Given the description of an element on the screen output the (x, y) to click on. 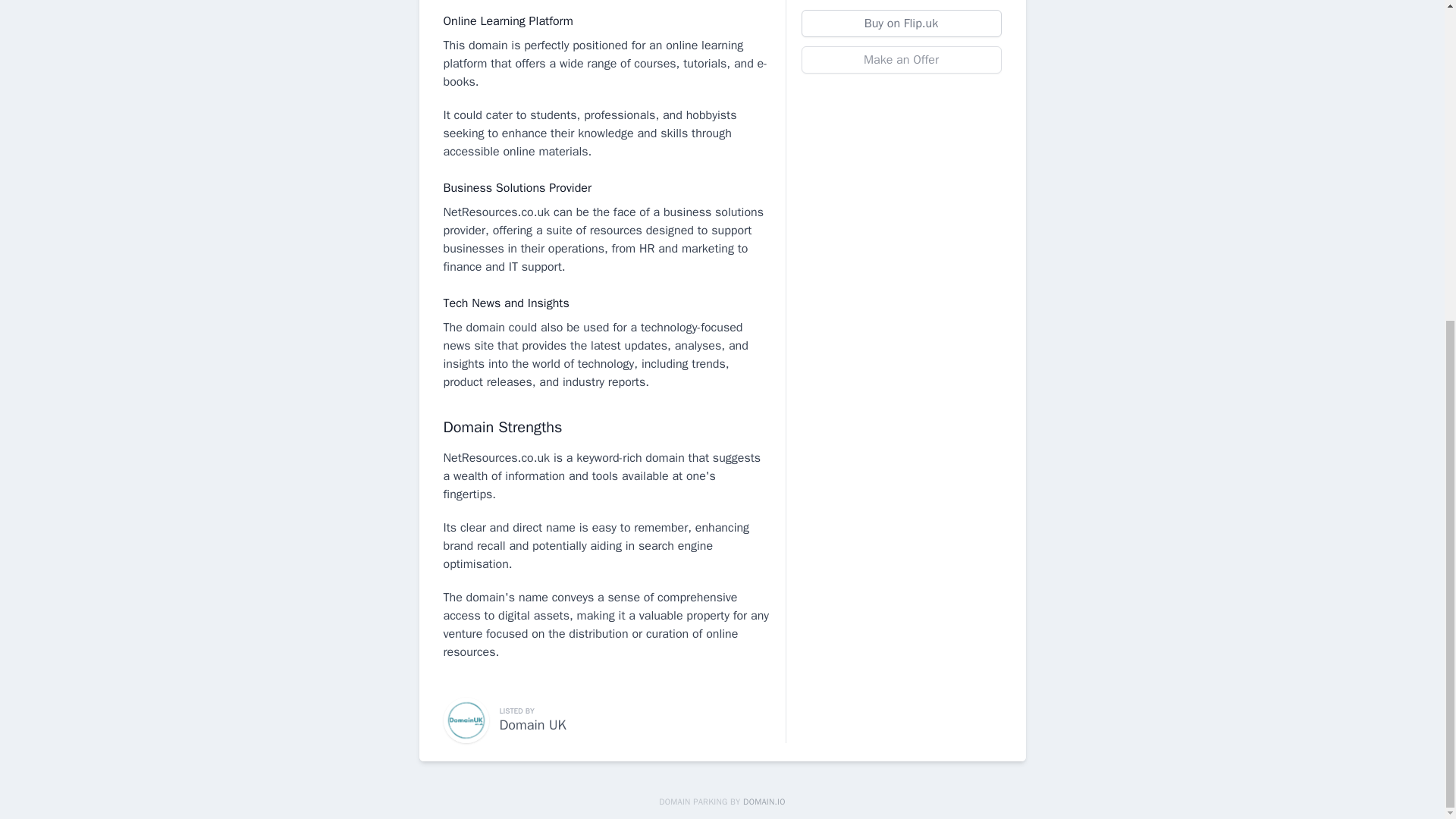
Make an Offer (900, 59)
DOMAIN PARKING BY DOMAIN.IO (722, 801)
Domain Parking by Domain.io (722, 801)
Buy on Flip.uk (900, 22)
